Given the description of an element on the screen output the (x, y) to click on. 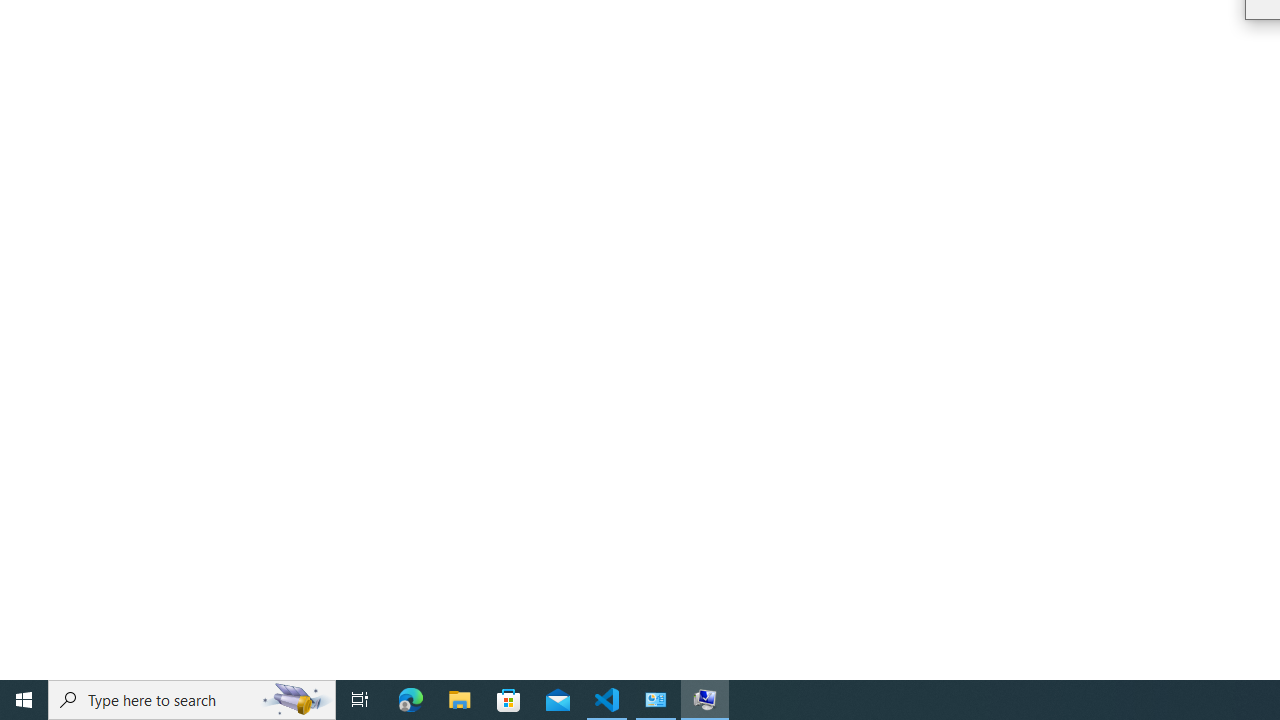
Control Panel - 1 running window (656, 699)
Microsoft Edge (411, 699)
Type here to search (191, 699)
Search highlights icon opens search home window (295, 699)
Microsoft Store (509, 699)
System Remote Settings - 1 running window (704, 699)
Task View (359, 699)
File Explorer (460, 699)
Visual Studio Code - 1 running window (607, 699)
Start (24, 699)
